Given the description of an element on the screen output the (x, y) to click on. 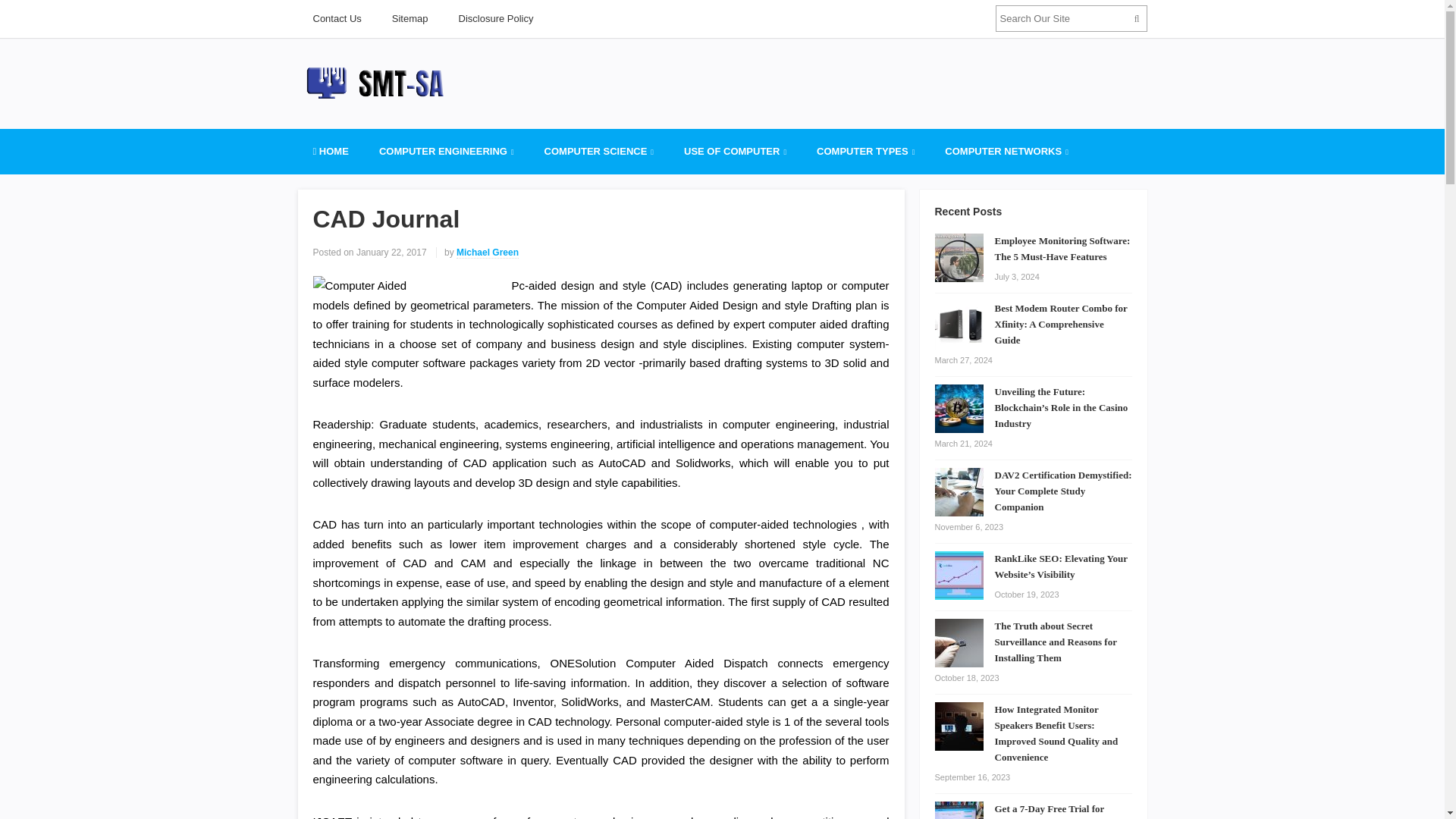
Sitemap (410, 18)
Disclosure Policy (496, 18)
Contact Us (336, 18)
